Given the description of an element on the screen output the (x, y) to click on. 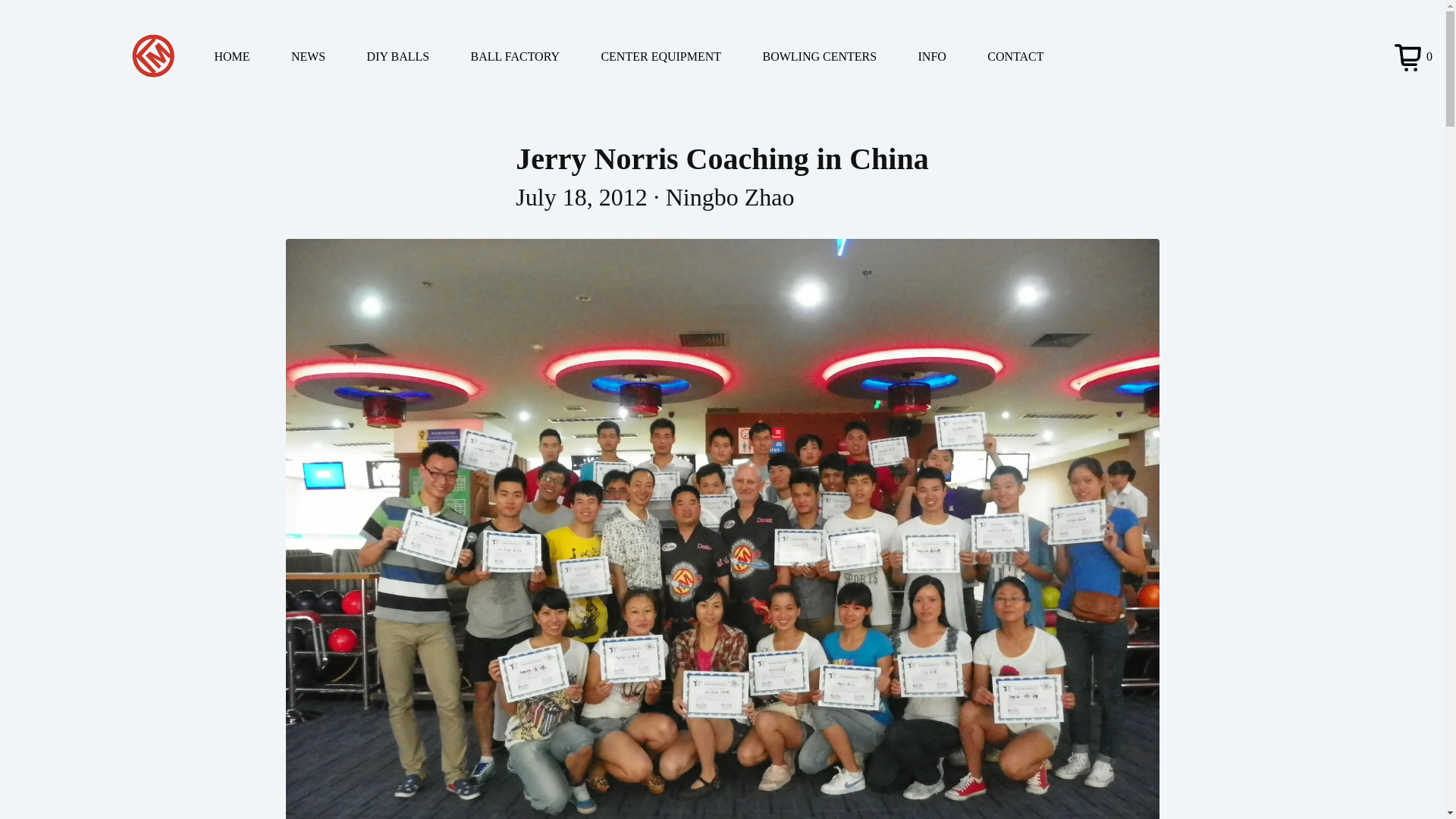
NEWS (323, 56)
0 (1411, 56)
BALL FACTORY (529, 56)
CENTER EQUIPMENT (674, 56)
INFO (946, 56)
BOWLING CENTERS (833, 56)
HOME (246, 56)
DIY BALLS (412, 56)
CONTACT (1030, 56)
